Given the description of an element on the screen output the (x, y) to click on. 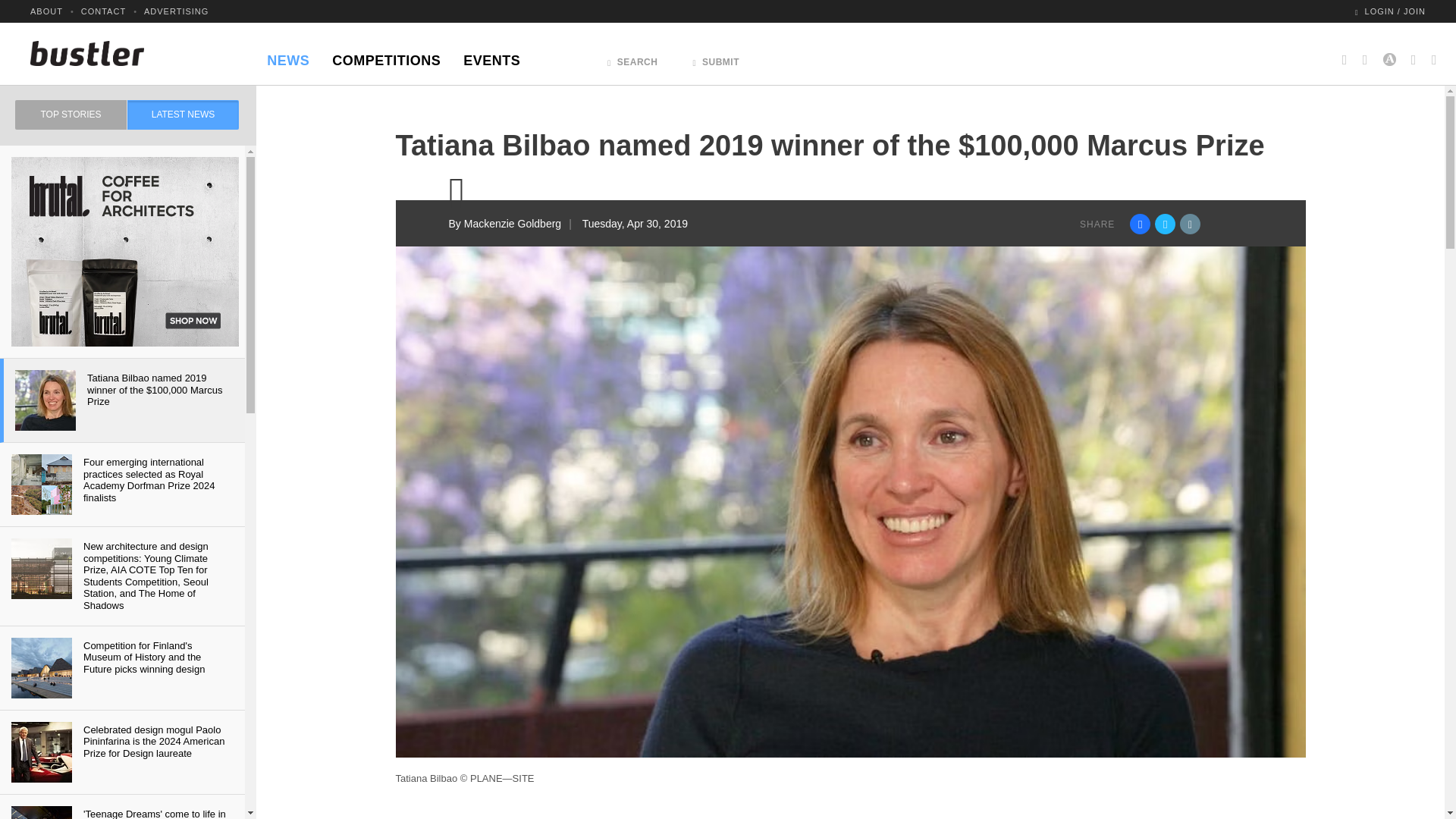
ABOUT (46, 10)
Bustler is powered by Archinect (1389, 53)
EVENTS (491, 56)
COMPETITIONS (385, 56)
NEWS (288, 56)
SUBMIT (715, 57)
CONTACT (103, 10)
SEARCH (632, 57)
ADVERTISING (176, 10)
